Given the description of an element on the screen output the (x, y) to click on. 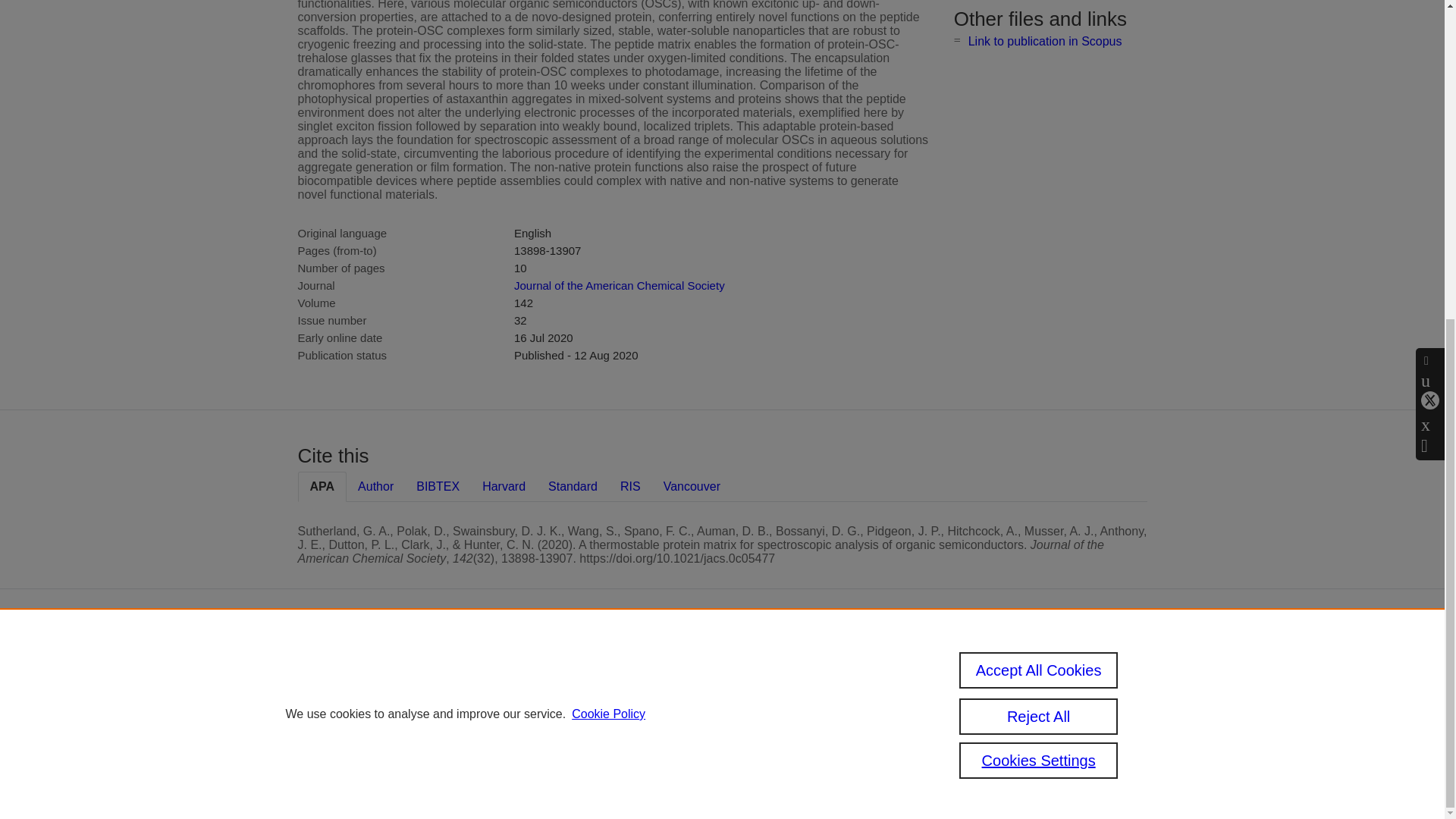
Report vulnerability (1021, 739)
Log in to Pure (584, 780)
Scopus (652, 664)
Pure (620, 664)
Contact us (1125, 670)
Cookies Settings (591, 760)
Link to publication in Scopus (1045, 41)
University of East Anglia data protection policy (1027, 675)
About web accessibility (1005, 712)
use of cookies (660, 739)
Cookie Policy (608, 196)
Journal of the American Chemical Society (619, 285)
Elsevier B.V. (764, 685)
